Given the description of an element on the screen output the (x, y) to click on. 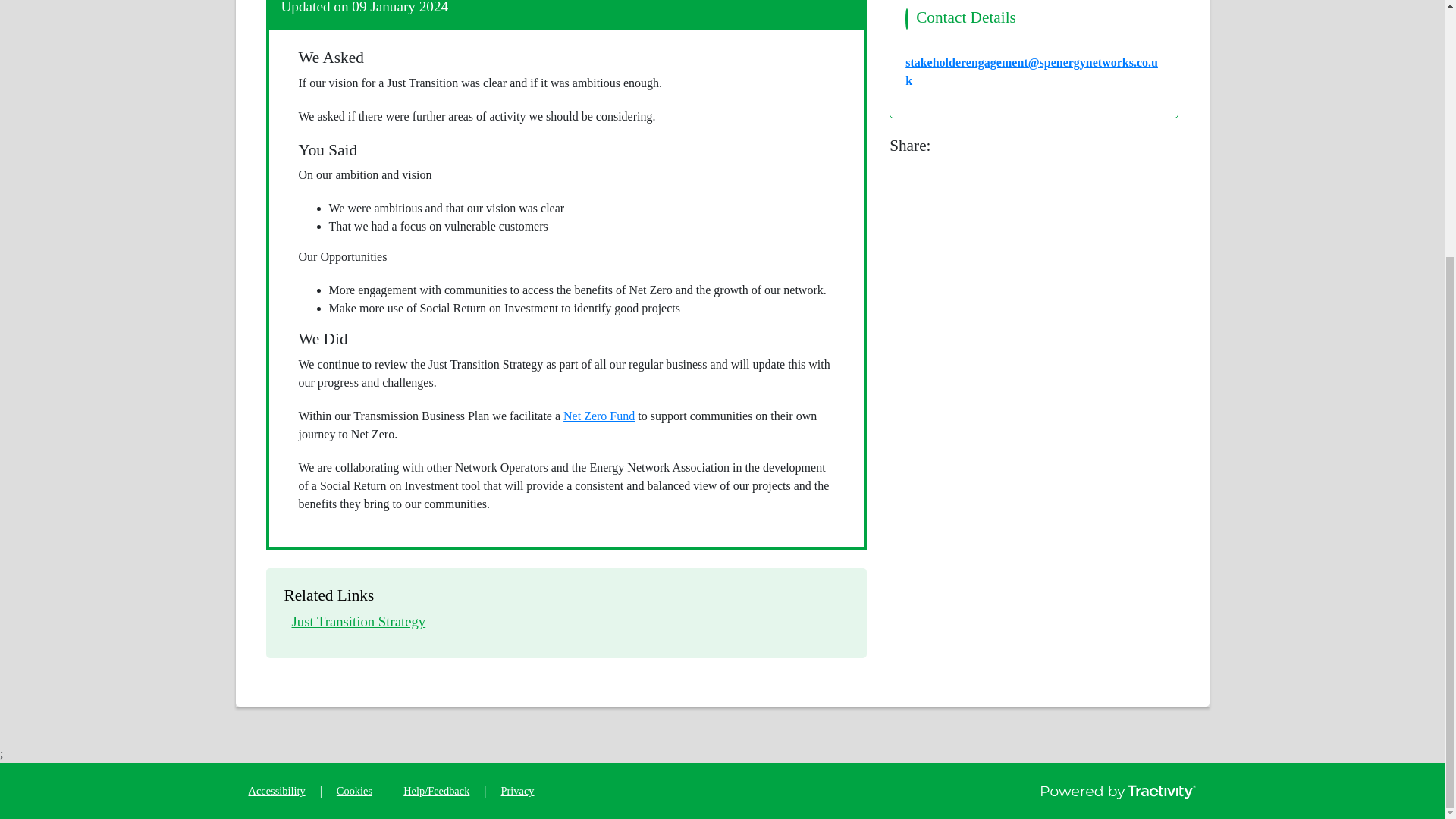
Privacy (358, 621)
Cookies (517, 790)
Accessibility (354, 790)
Net Zero Fund (275, 790)
